Given the description of an element on the screen output the (x, y) to click on. 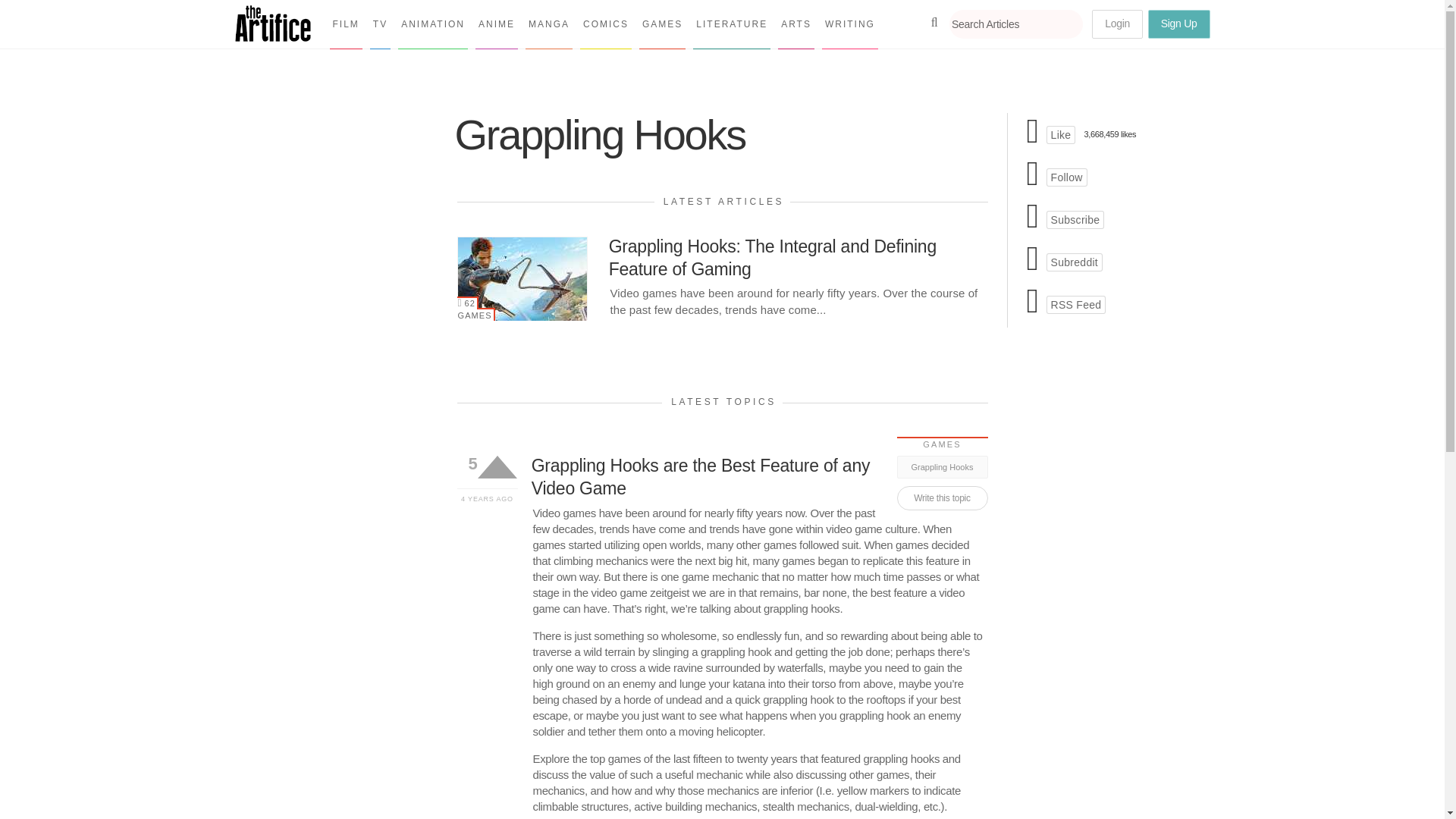
The Artifice on Reddit (1074, 262)
ANIMATION (432, 24)
The Artifice RSS Feed (1076, 304)
COMICS (605, 24)
GAMES (662, 24)
GAMES (476, 314)
LITERATURE (731, 24)
Visit topic page (758, 477)
Register to write this topic (941, 498)
The Artifice on Facebook (1060, 135)
Sign Up (1178, 23)
Subscribe to The Artifice (1075, 219)
Login (1117, 23)
62 (468, 302)
The Artifice on Twitter (1066, 177)
